Given the description of an element on the screen output the (x, y) to click on. 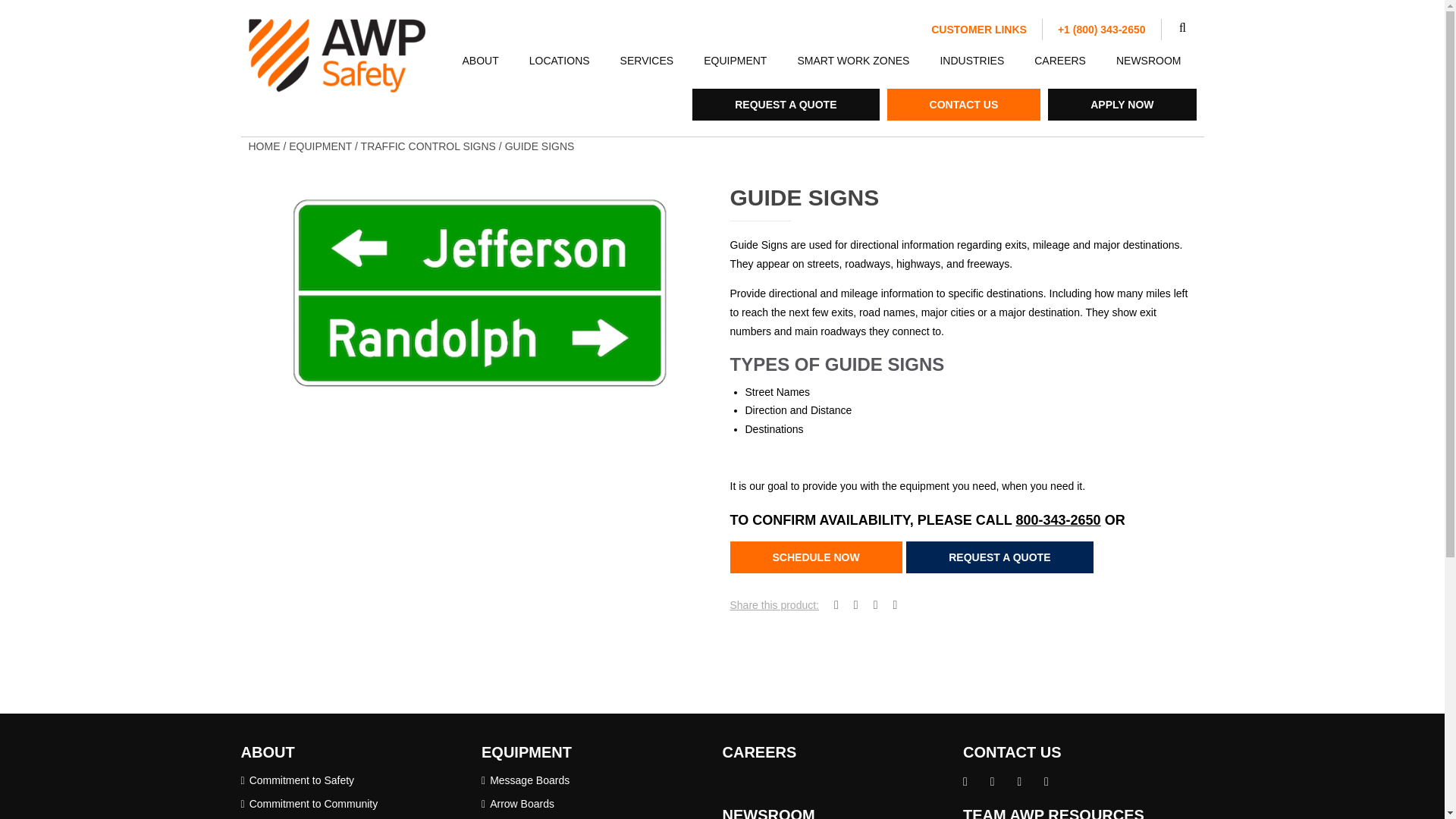
SERVICES (646, 60)
Search (1188, 29)
Header (1101, 29)
SMART WORK ZONES (852, 60)
LOCATIONS (559, 60)
ABOUT (479, 60)
NEWSROOM (1148, 60)
Search (1188, 29)
EQUIPMENT (734, 60)
CUSTOMER LINKS (978, 29)
INDUSTRIES (971, 60)
CAREERS (1059, 60)
Search (1188, 29)
